Given the description of an element on the screen output the (x, y) to click on. 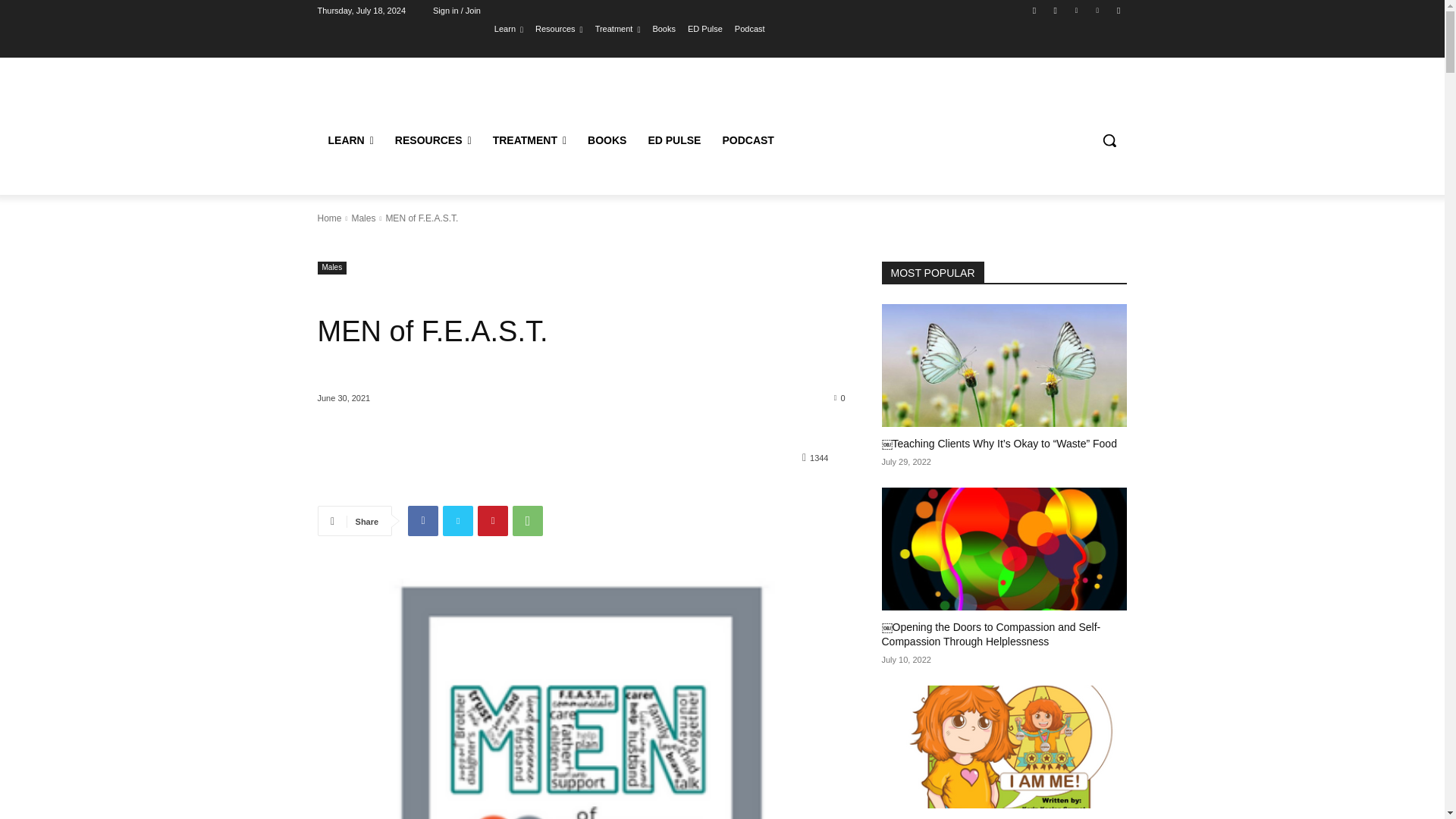
View all posts in Males (362, 217)
Menoffeastweb (580, 698)
Facebook (1034, 9)
Pinterest (492, 521)
Twitter (457, 521)
Learn (508, 28)
Facebook (422, 521)
WhatsApp (527, 521)
Vimeo (1097, 9)
Youtube (1117, 9)
Instagram (1055, 9)
Twitter (1075, 9)
